Given the description of an element on the screen output the (x, y) to click on. 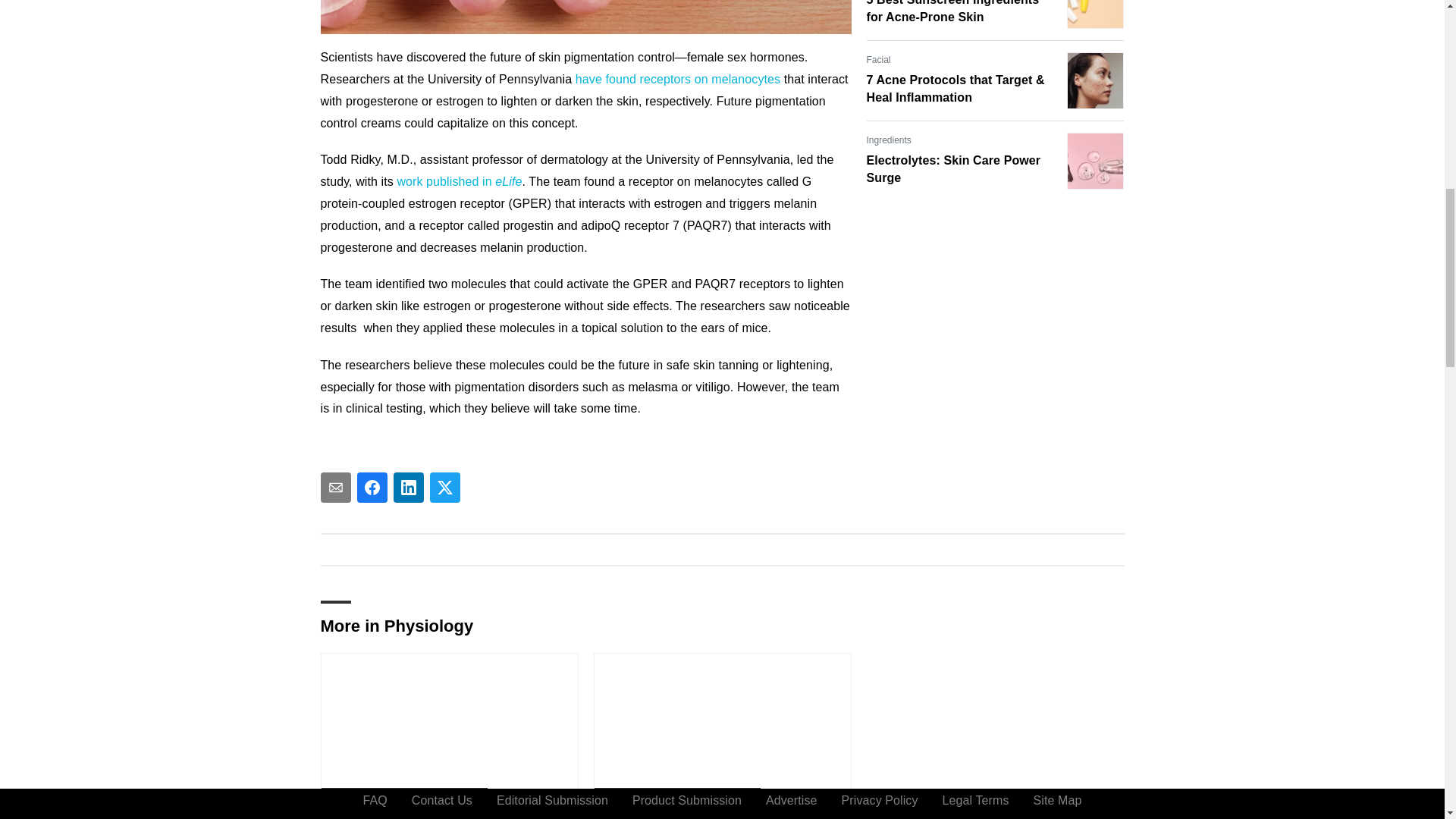
Share To facebook (371, 487)
Share To email (335, 487)
Share To twitter (444, 487)
Share To linkedin (408, 487)
